Given the description of an element on the screen output the (x, y) to click on. 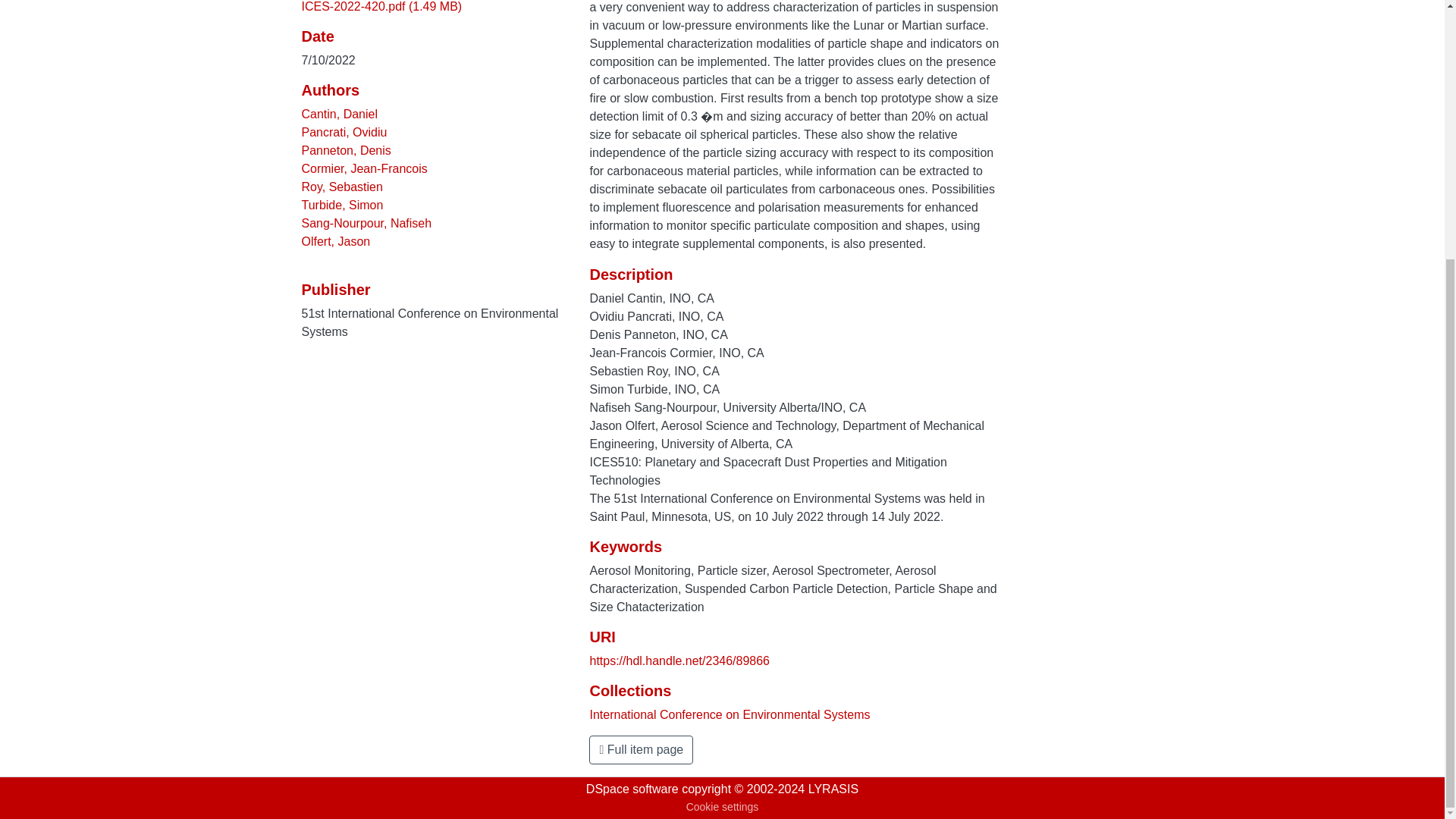
LYRASIS (833, 788)
Sang-Nourpour, Nafiseh (366, 223)
Cookie settings (722, 806)
Turbide, Simon (342, 205)
Cormier, Jean-Francois (364, 168)
International Conference on Environmental Systems (729, 714)
DSpace software (632, 788)
Panneton, Denis (346, 150)
Olfert, Jason (336, 241)
Pancrati, Ovidiu (344, 132)
